Given the description of an element on the screen output the (x, y) to click on. 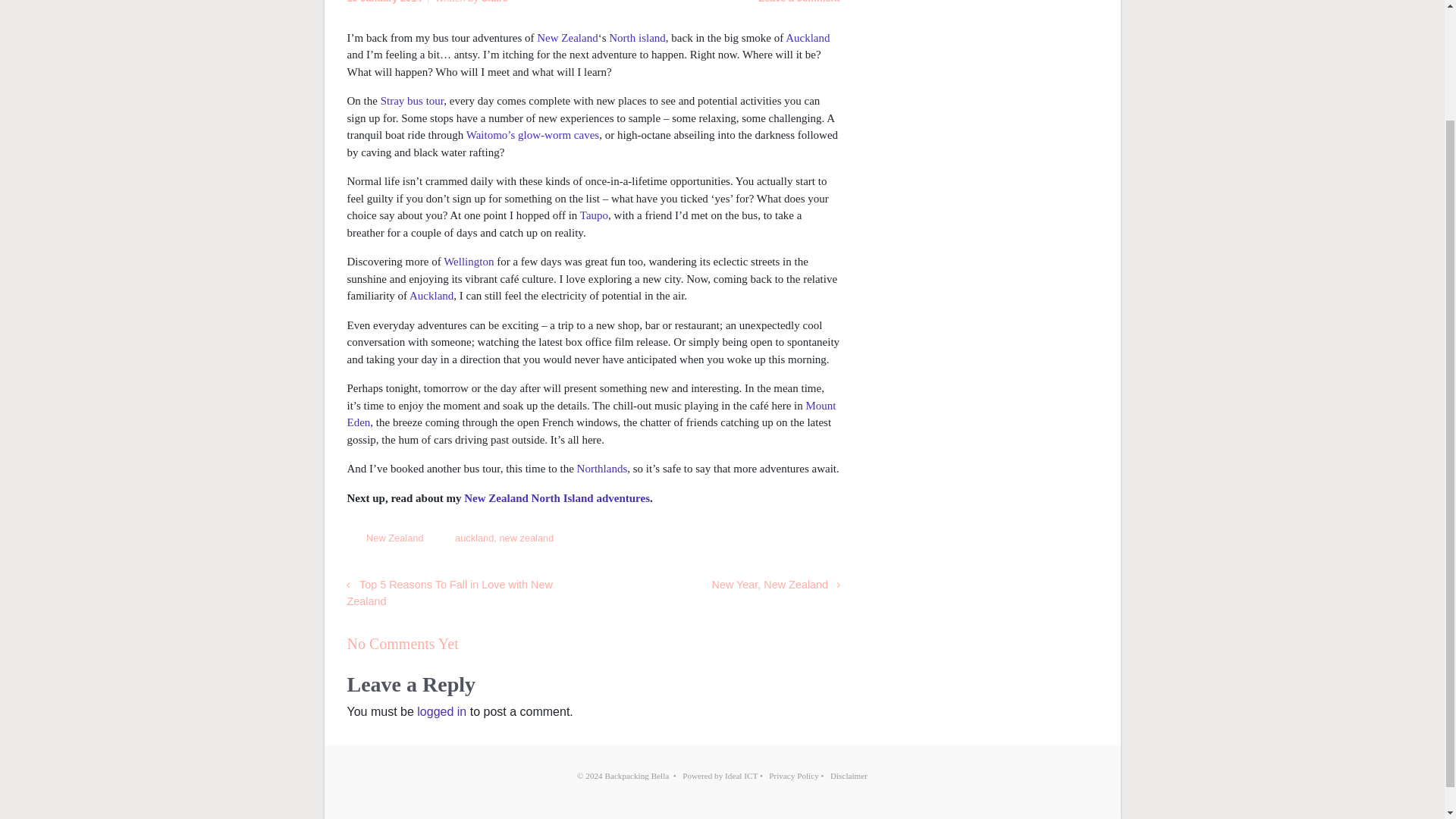
Share by Email (811, 541)
Follow replies (479, 643)
Share on Pinterest (787, 541)
Share on Twitter (743, 541)
Share on Facebook (766, 541)
View all posts by Claire (494, 2)
